Given the description of an element on the screen output the (x, y) to click on. 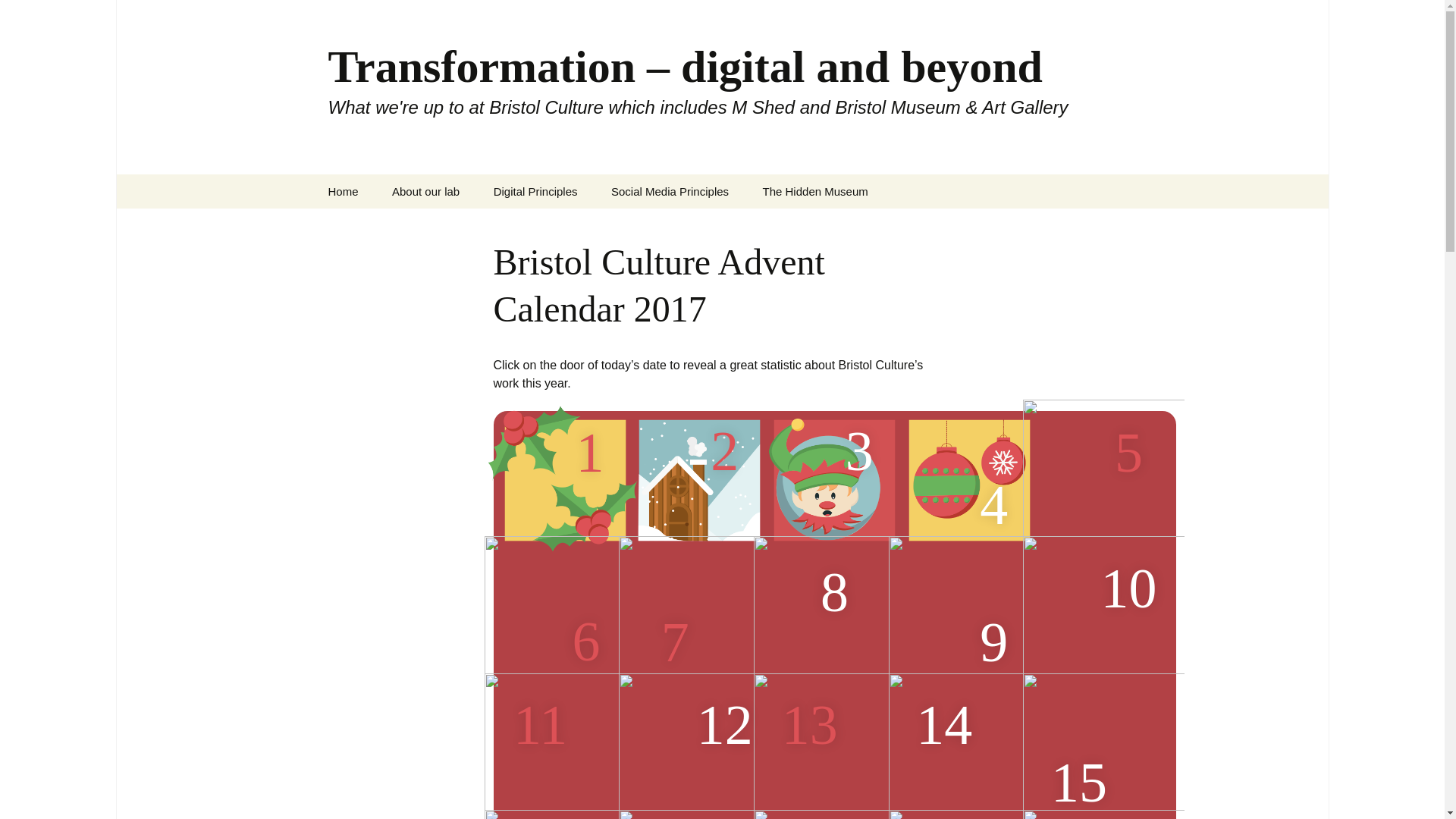
Social Media Principles (669, 191)
About our lab (425, 191)
Search (18, 15)
Search (34, 15)
The Hidden Museum (815, 191)
Digital Principles (535, 191)
Home (342, 191)
